Given the description of an element on the screen output the (x, y) to click on. 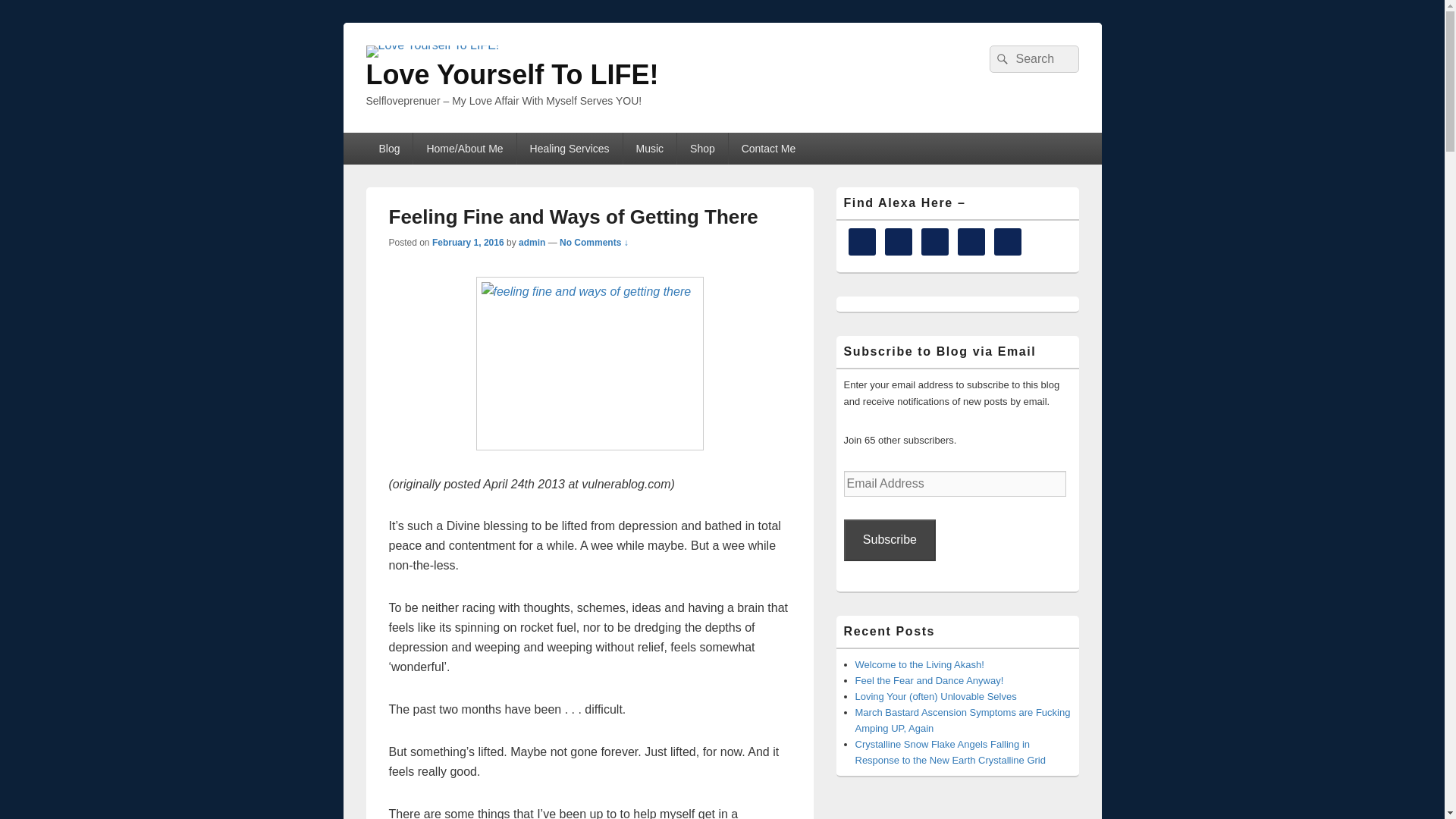
Healing Services (569, 148)
Love Yourself To LIFE! (511, 74)
Shop (702, 148)
3:29 pm (467, 242)
Contact Me (769, 148)
Music (650, 148)
February 1, 2016 (467, 242)
admin (531, 242)
Blog (388, 148)
Search for: (1033, 58)
View all posts by admin (531, 242)
